Given the description of an element on the screen output the (x, y) to click on. 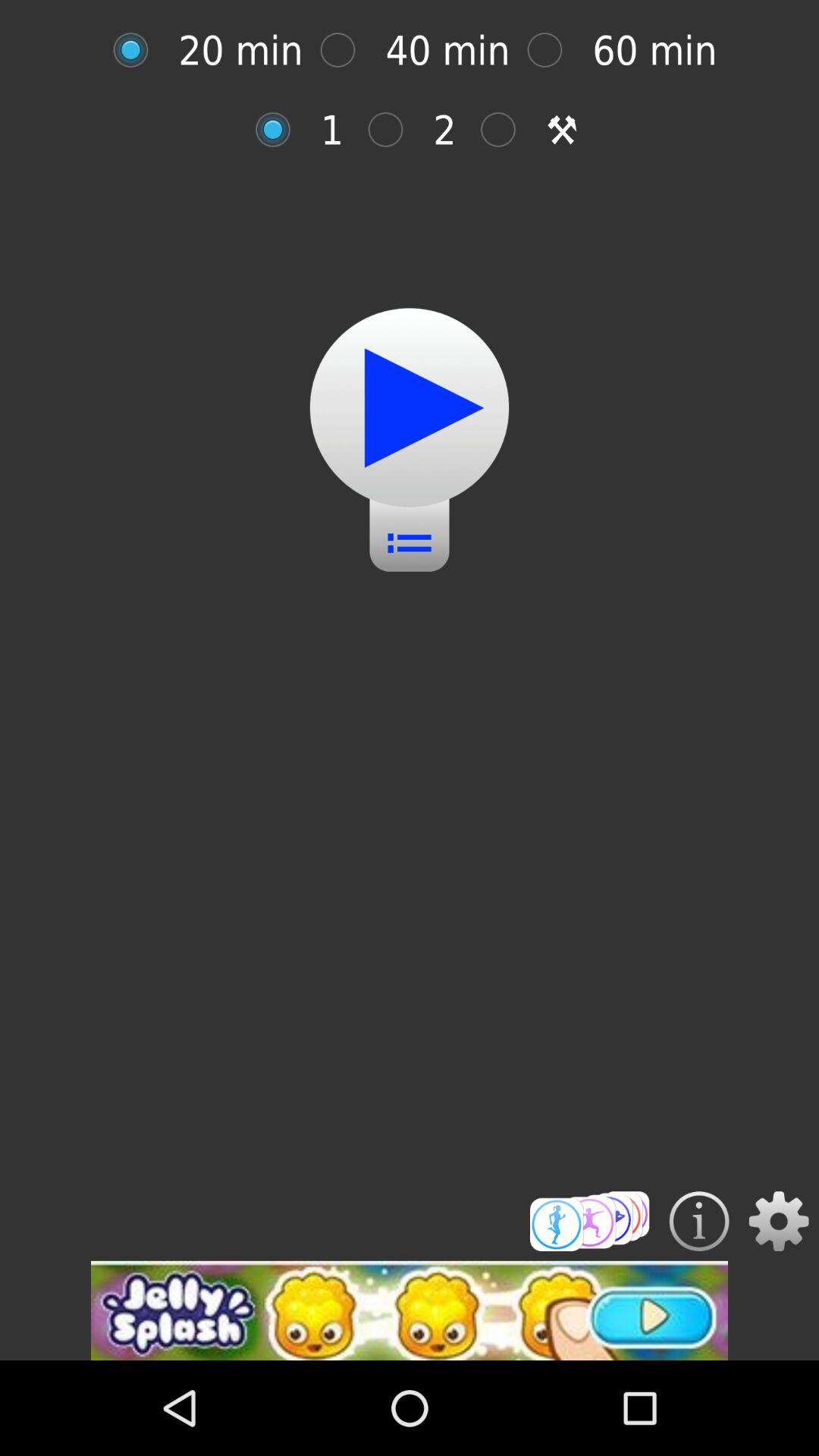
settings button (778, 1221)
